Given the description of an element on the screen output the (x, y) to click on. 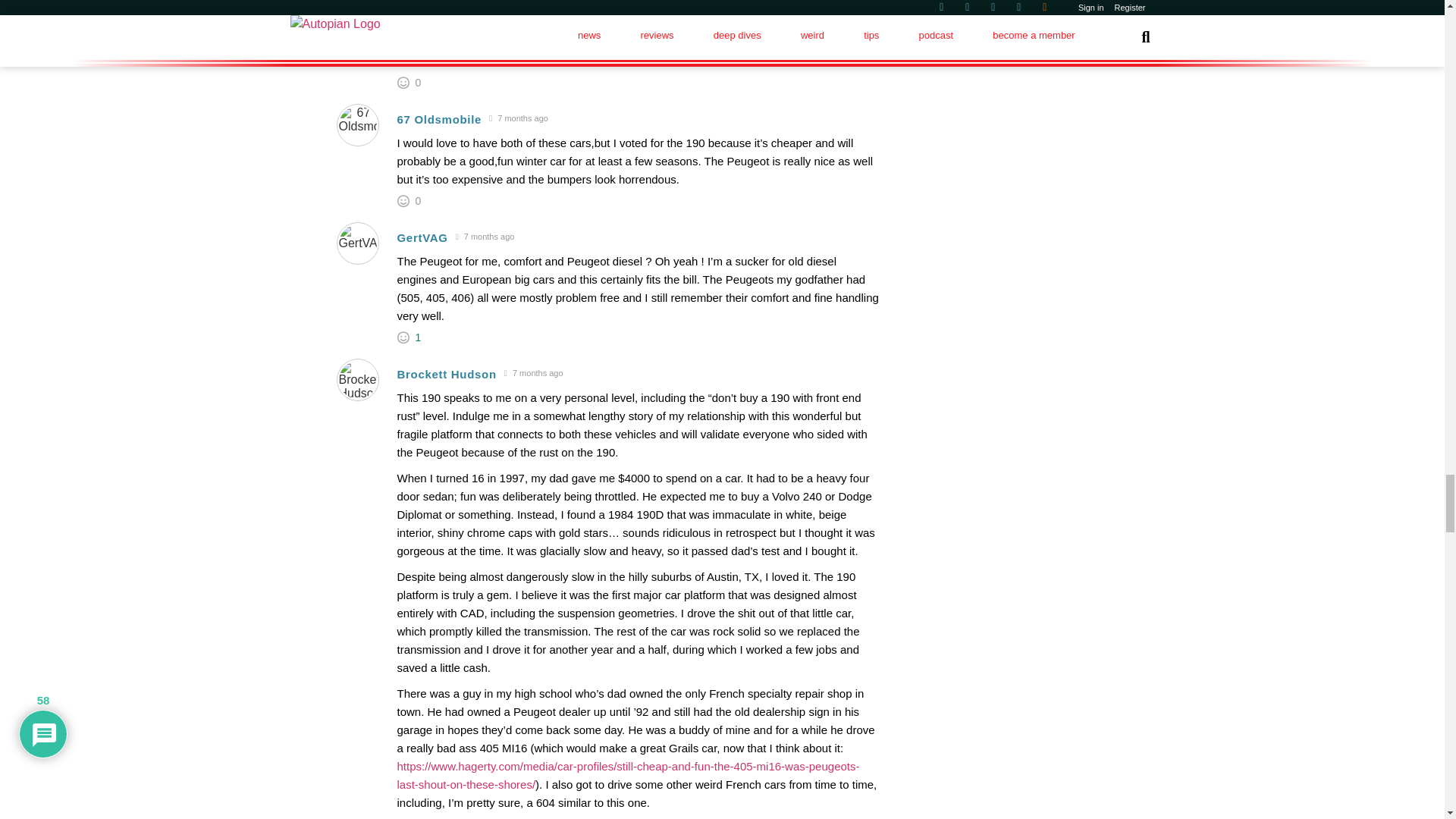
1 (418, 337)
December 21, 2023 5:00 am (484, 237)
December 20, 2023 10:57 pm (533, 373)
December 21, 2023 5:17 am (517, 118)
0 (418, 82)
0 (418, 200)
